Given the description of an element on the screen output the (x, y) to click on. 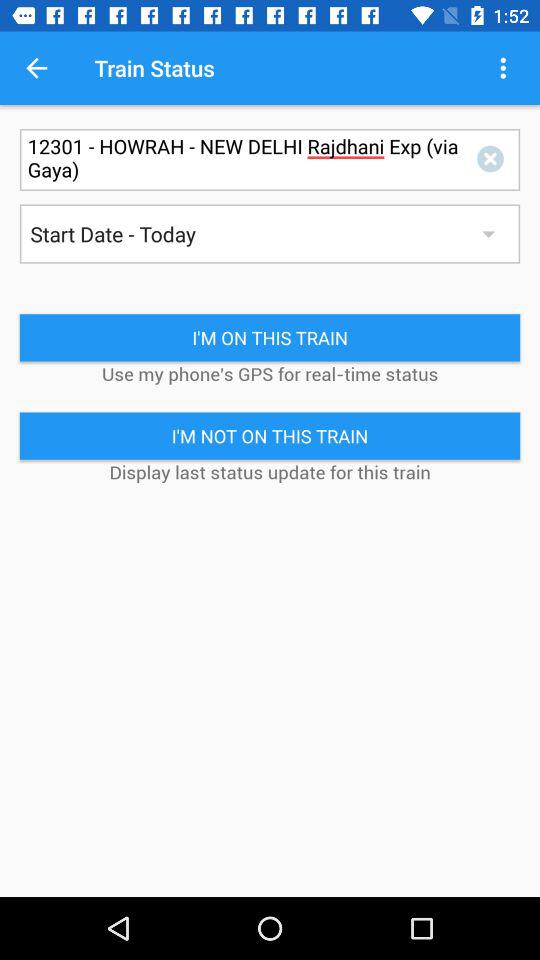
close tab (494, 159)
